Given the description of an element on the screen output the (x, y) to click on. 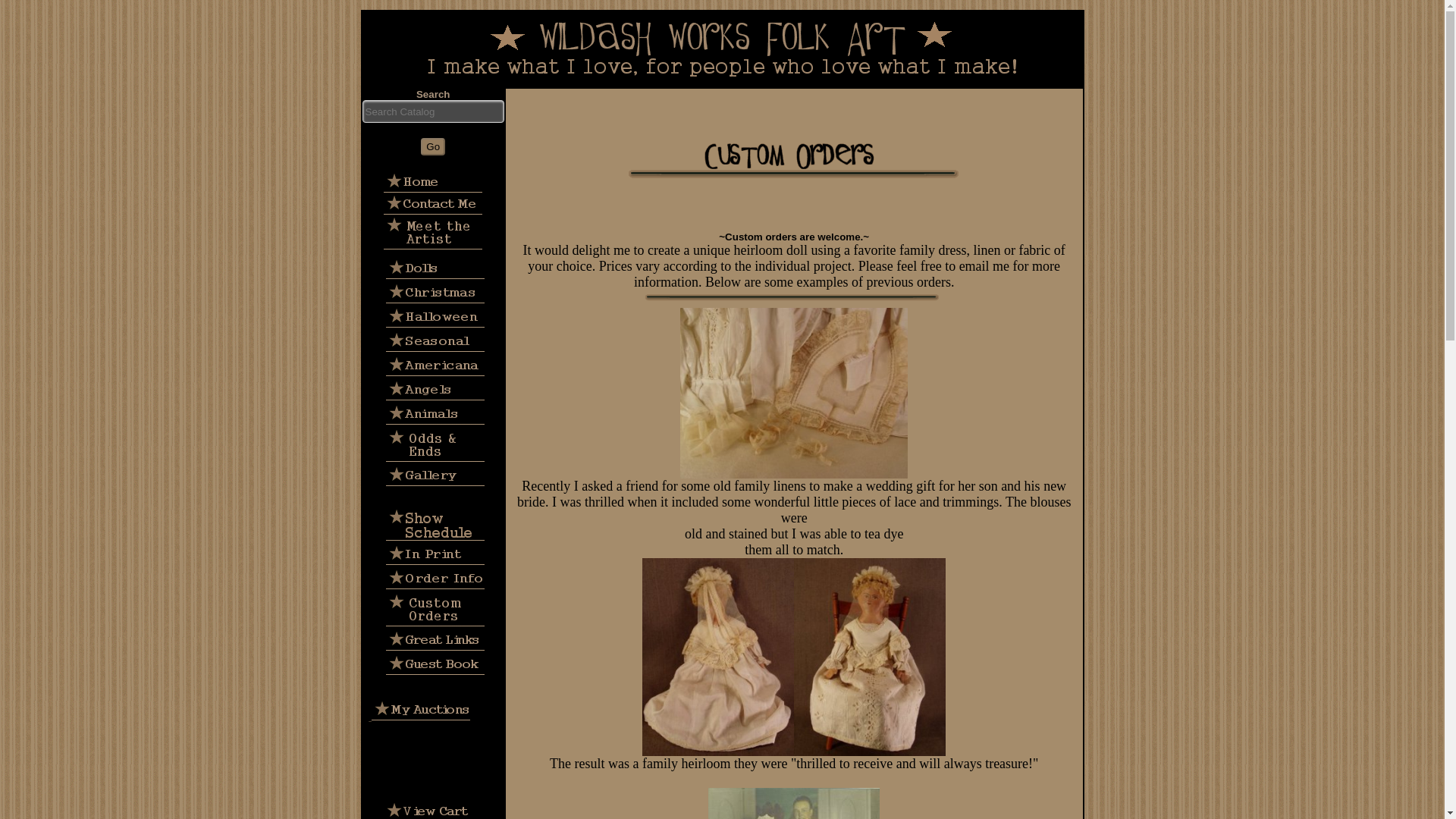
In Print (434, 553)
Go (432, 146)
Web Site Links (434, 639)
Guest Book (434, 663)
Custom Orders (434, 608)
Event Calendar (434, 523)
Go (432, 146)
